Given the description of an element on the screen output the (x, y) to click on. 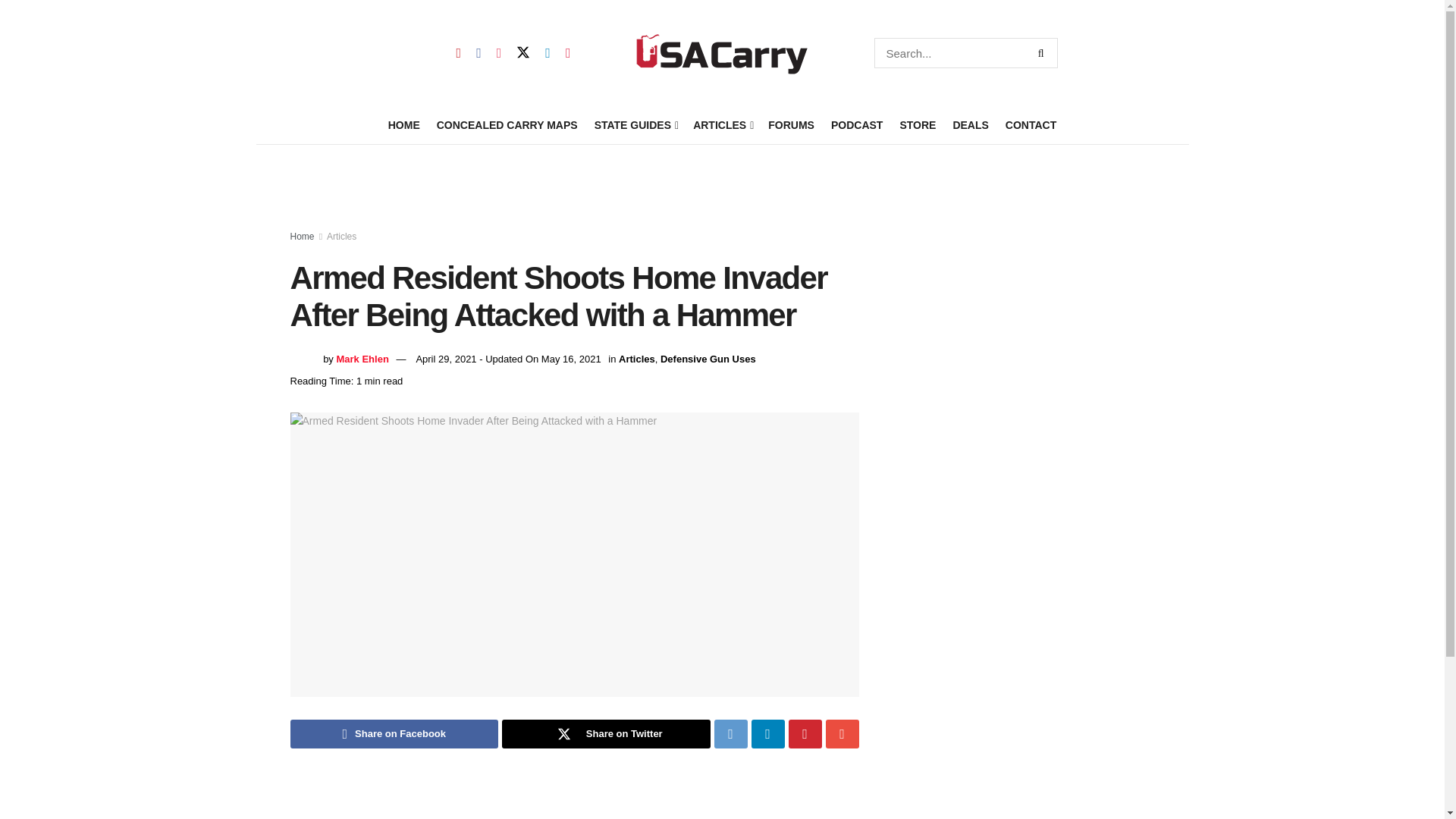
State Concealed Carry Guides (635, 124)
HOME (404, 124)
CONCEALED CARRY MAPS (507, 124)
STATE GUIDES (635, 124)
